Given the description of an element on the screen output the (x, y) to click on. 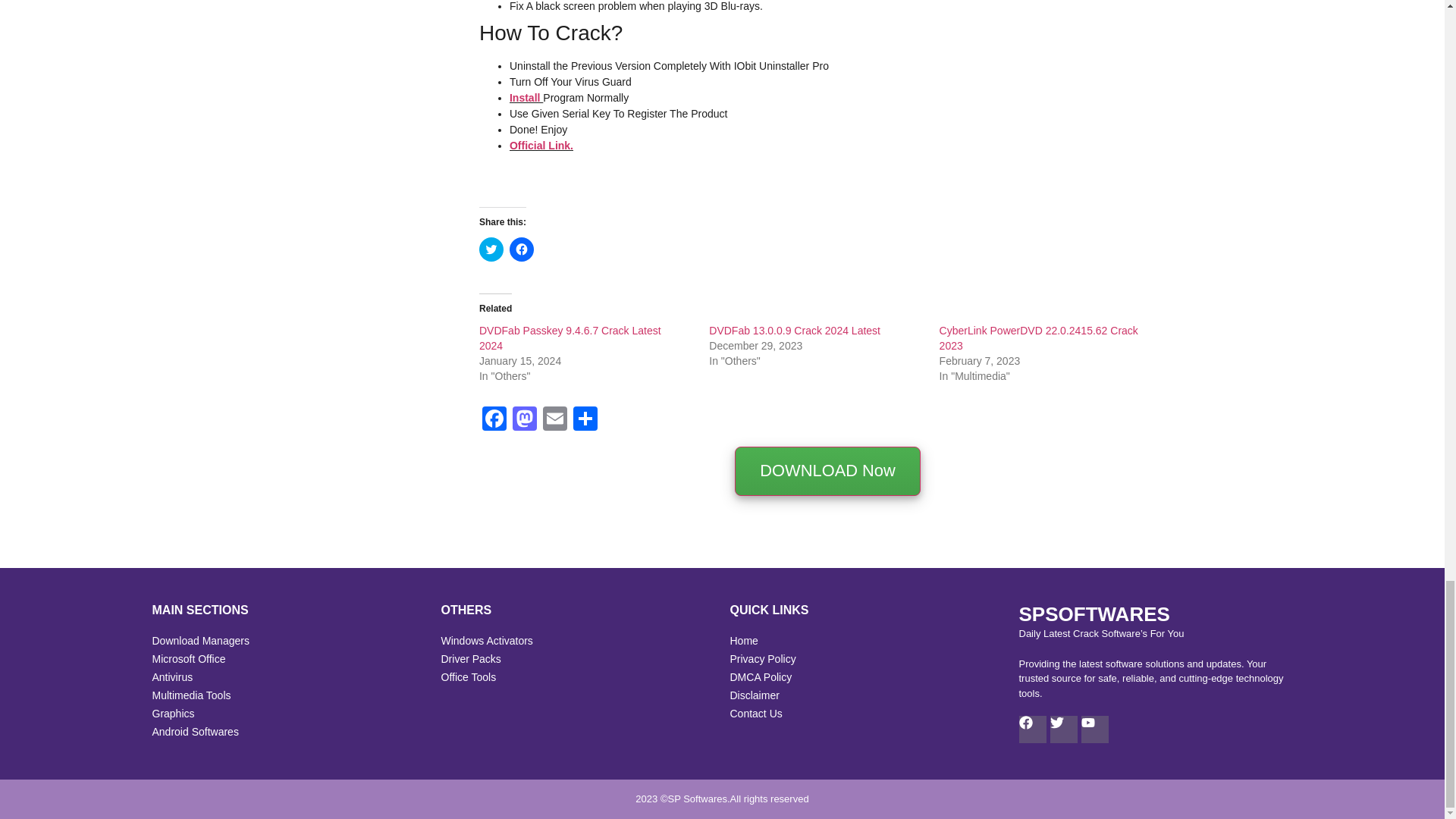
DVDFab 13.0.0.9 Crack 2024 Latest (794, 330)
Click to share on Facebook (521, 249)
CyberLink PowerDVD 22.0.2415.62 Crack 2023 (1038, 338)
Facebook (494, 420)
Click to share on Twitter (491, 249)
DVDFab Passkey  9.4.6.7 Crack Latest 2024 (570, 338)
